Given the description of an element on the screen output the (x, y) to click on. 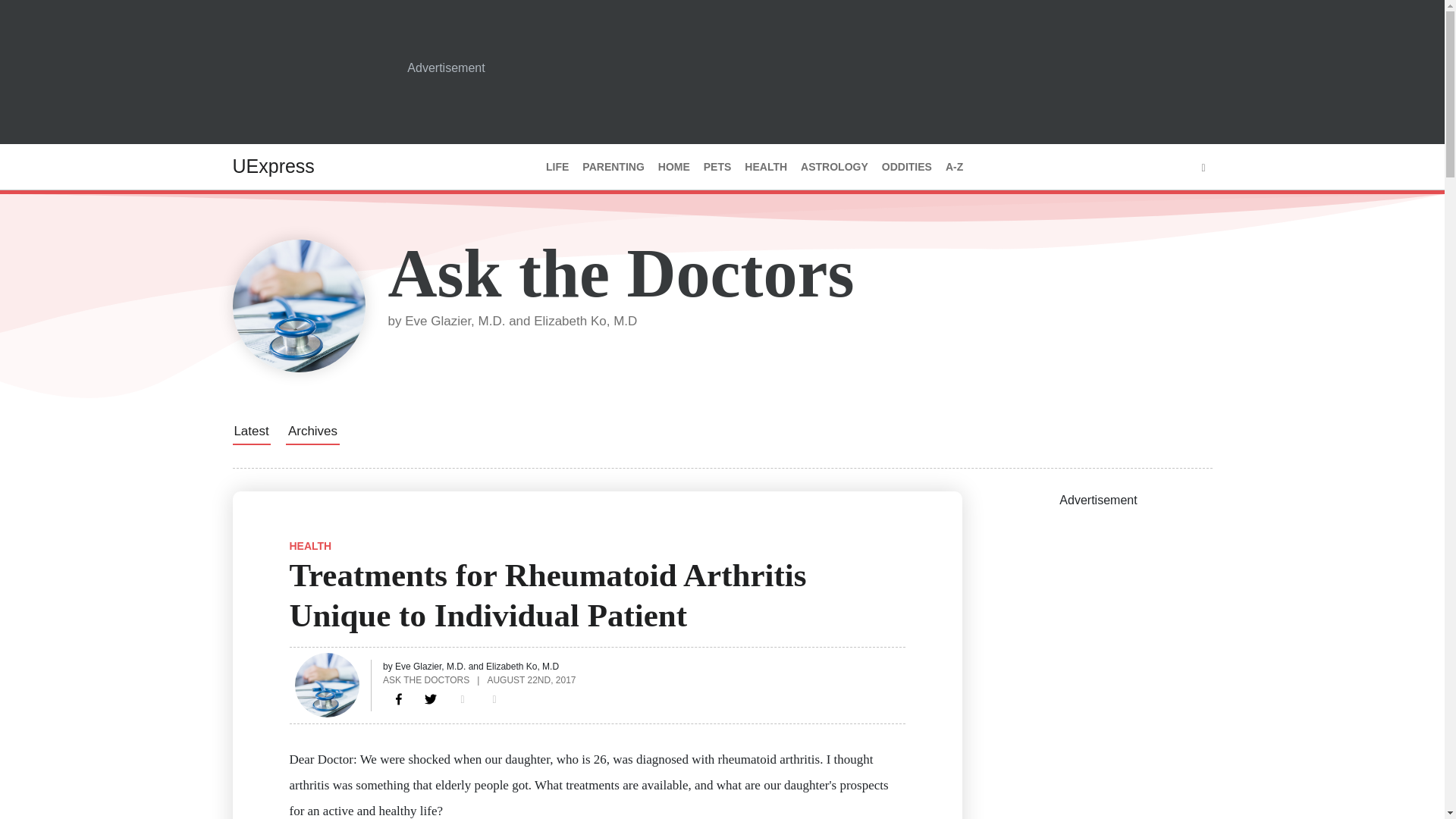
ASTROLOGY (834, 166)
PARENTING (612, 166)
ASK THE DOCTORS (425, 680)
HEALTH (310, 545)
Archives (312, 431)
ODDITIES (907, 166)
Latest (251, 431)
HOME (673, 166)
A-Z (954, 166)
